Given the description of an element on the screen output the (x, y) to click on. 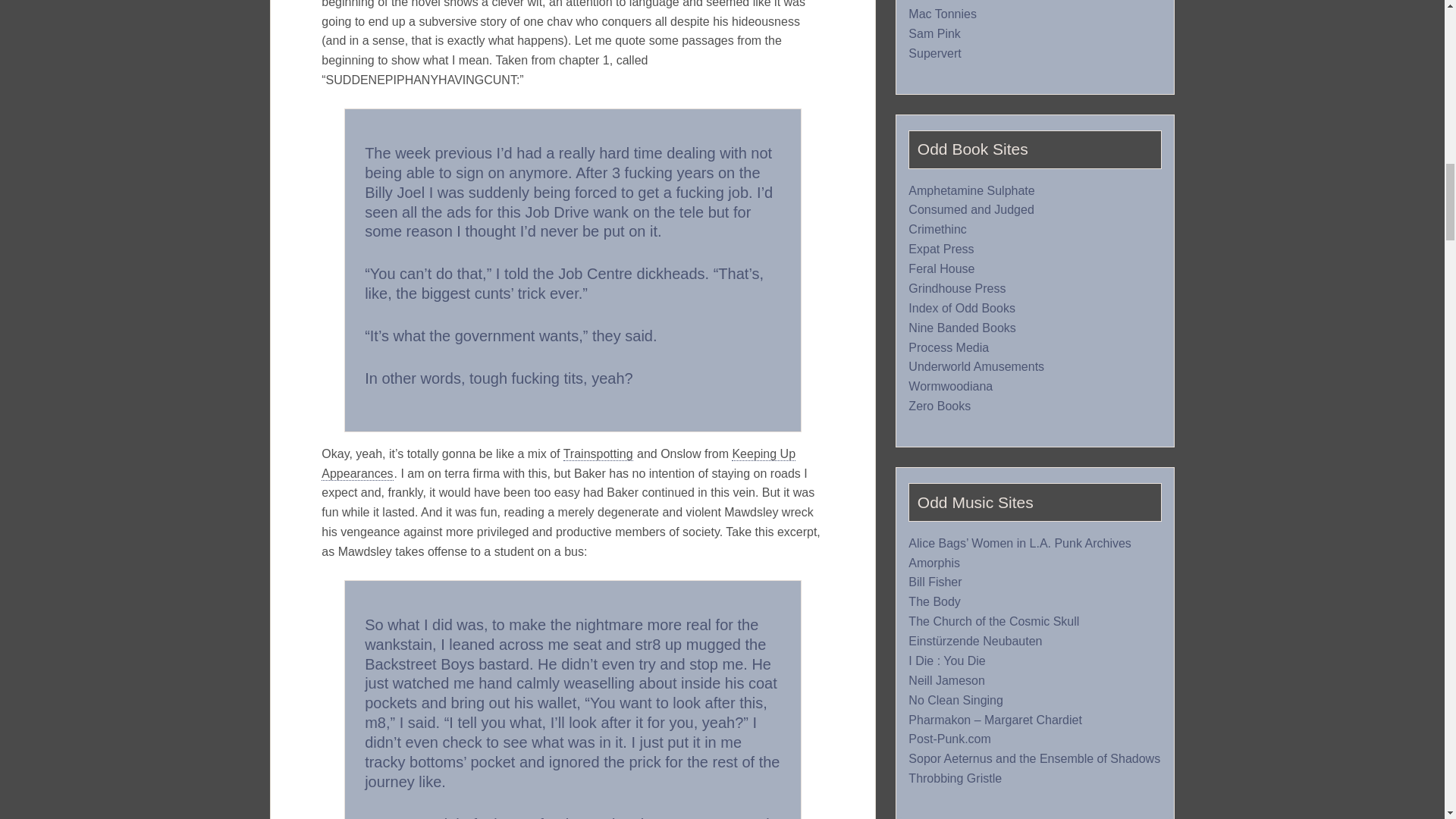
Keeping Up Appearances (557, 463)
Trainspotting (598, 454)
